Given the description of an element on the screen output the (x, y) to click on. 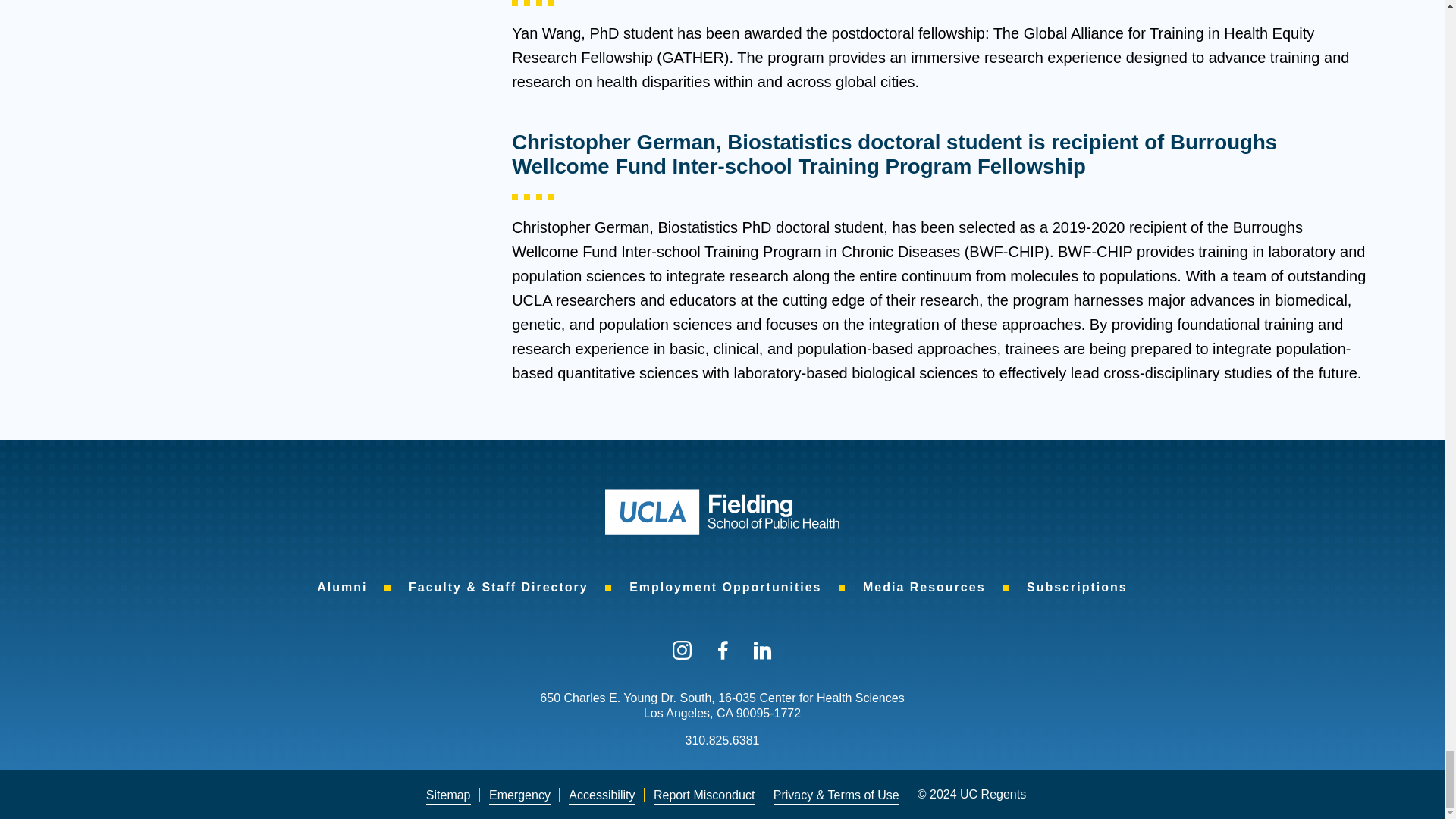
California (724, 712)
